Given the description of an element on the screen output the (x, y) to click on. 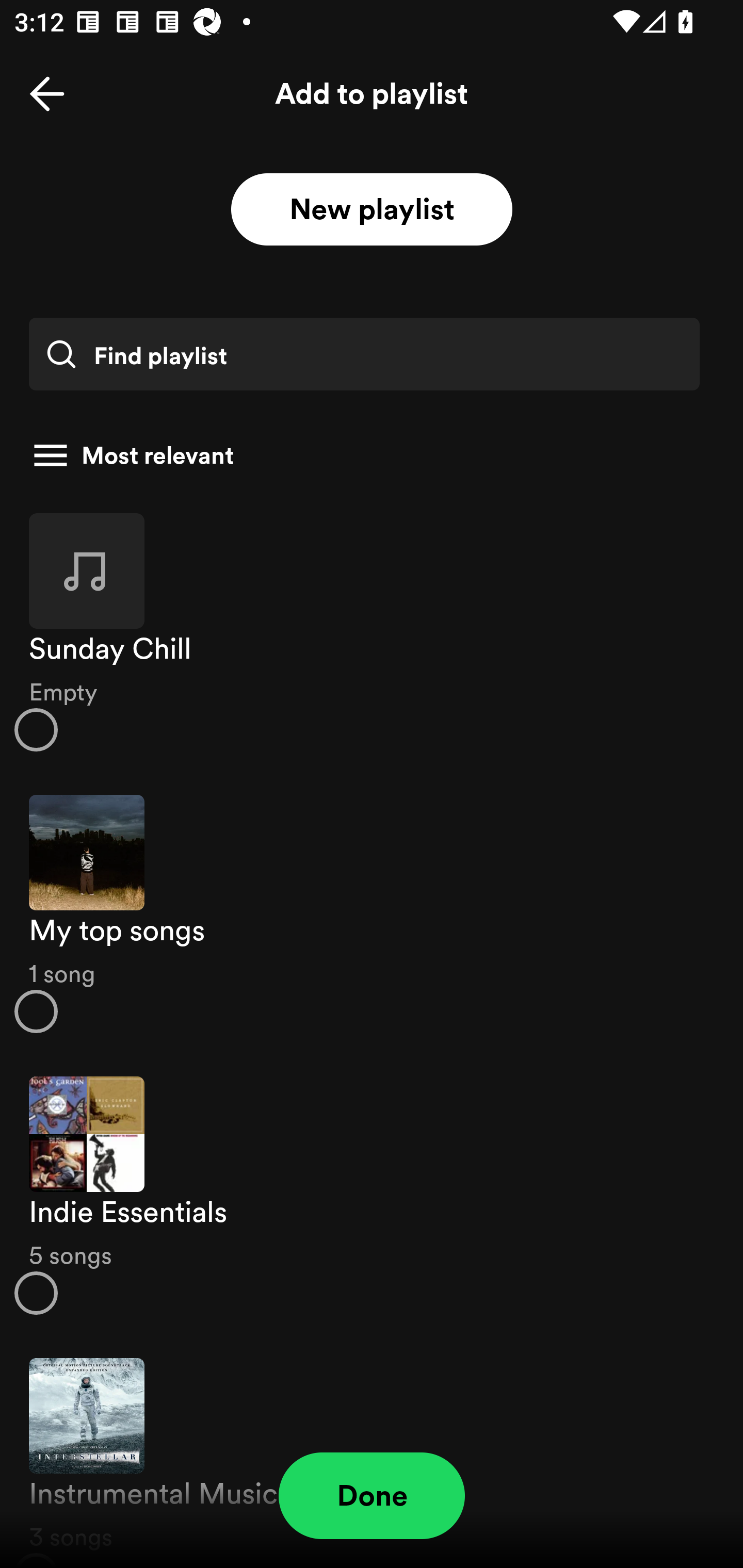
Back (46, 93)
New playlist (371, 210)
Find playlist (363, 354)
Most relevant (363, 455)
Sunday Chill Empty (371, 631)
My top songs 1 song (371, 914)
Indie Essentials 5 songs (371, 1195)
Instrumental Music 3 songs (371, 1451)
Done (371, 1495)
